Given the description of an element on the screen output the (x, y) to click on. 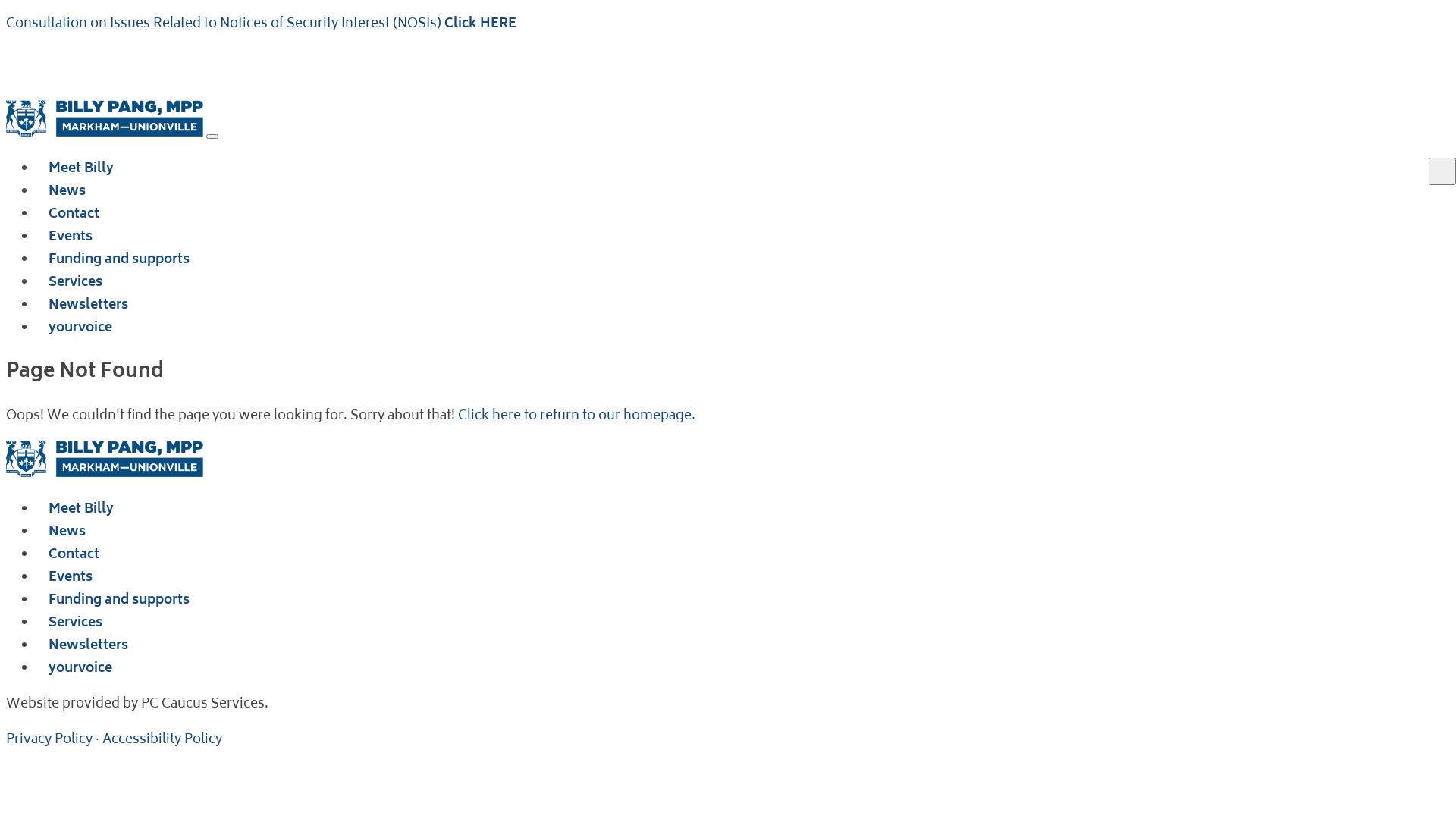
Contact Element type: text (73, 209)
Contact Element type: text (73, 550)
Events Element type: text (70, 232)
yourvoice Element type: text (80, 323)
News Element type: text (66, 187)
Accessibility Policy Element type: text (162, 739)
yourvoice Element type: text (80, 664)
Click HERE Element type: text (480, 23)
Services Element type: text (75, 618)
Meet Billy Element type: text (80, 164)
Funding and supports Element type: text (118, 255)
Events Element type: text (70, 573)
Click here to return to our homepage. Element type: text (576, 415)
News Element type: text (66, 527)
Newsletters Element type: text (88, 641)
Privacy Policy Element type: text (49, 739)
Meet Billy Element type: text (80, 504)
Services Element type: text (75, 278)
Newsletters Element type: text (88, 300)
Funding and supports Element type: text (118, 595)
